Given the description of an element on the screen output the (x, y) to click on. 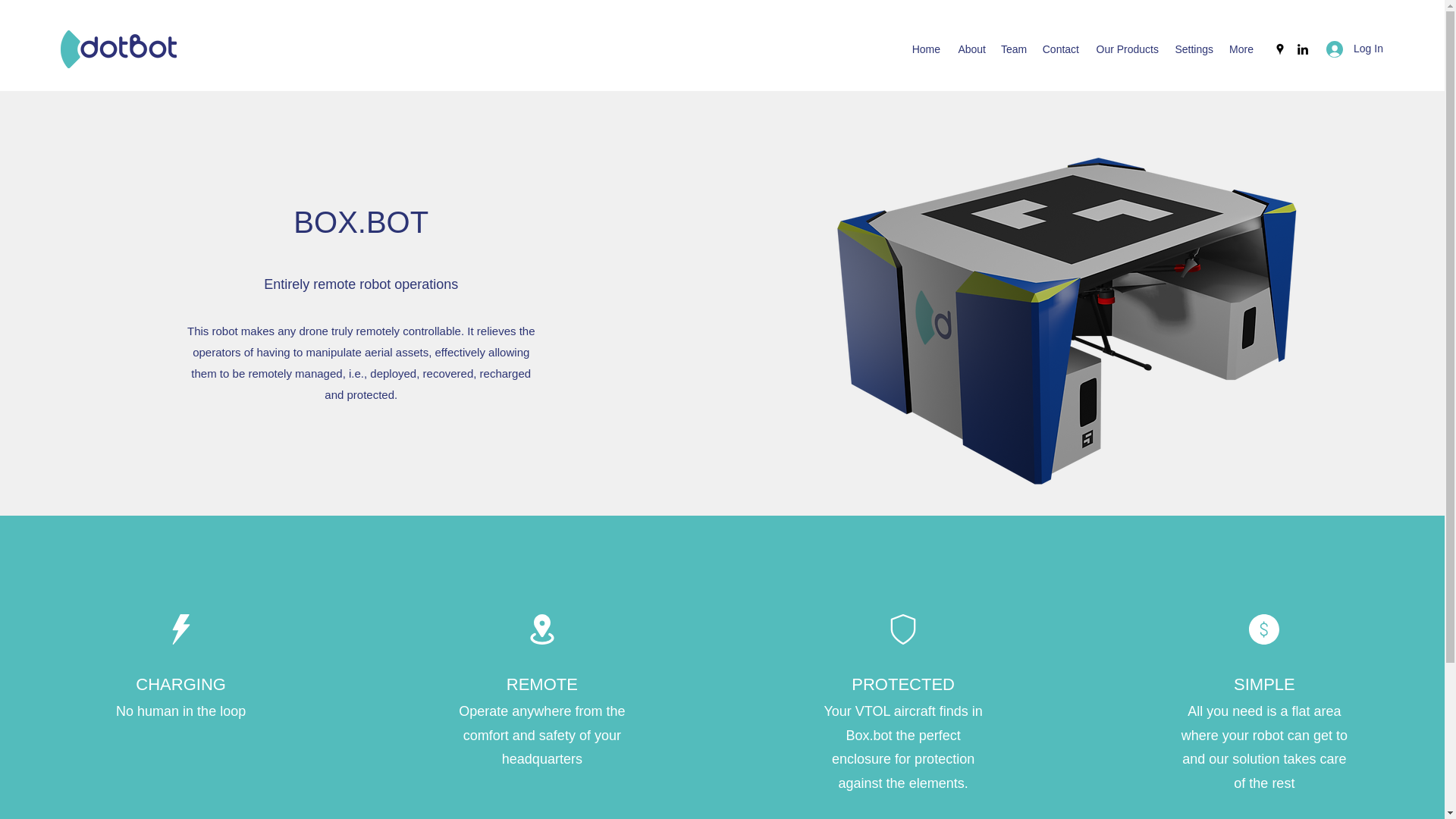
Log In (1350, 49)
Settings (1193, 48)
About (969, 48)
Home (925, 48)
Contact (1059, 48)
Team (1012, 48)
